Given the description of an element on the screen output the (x, y) to click on. 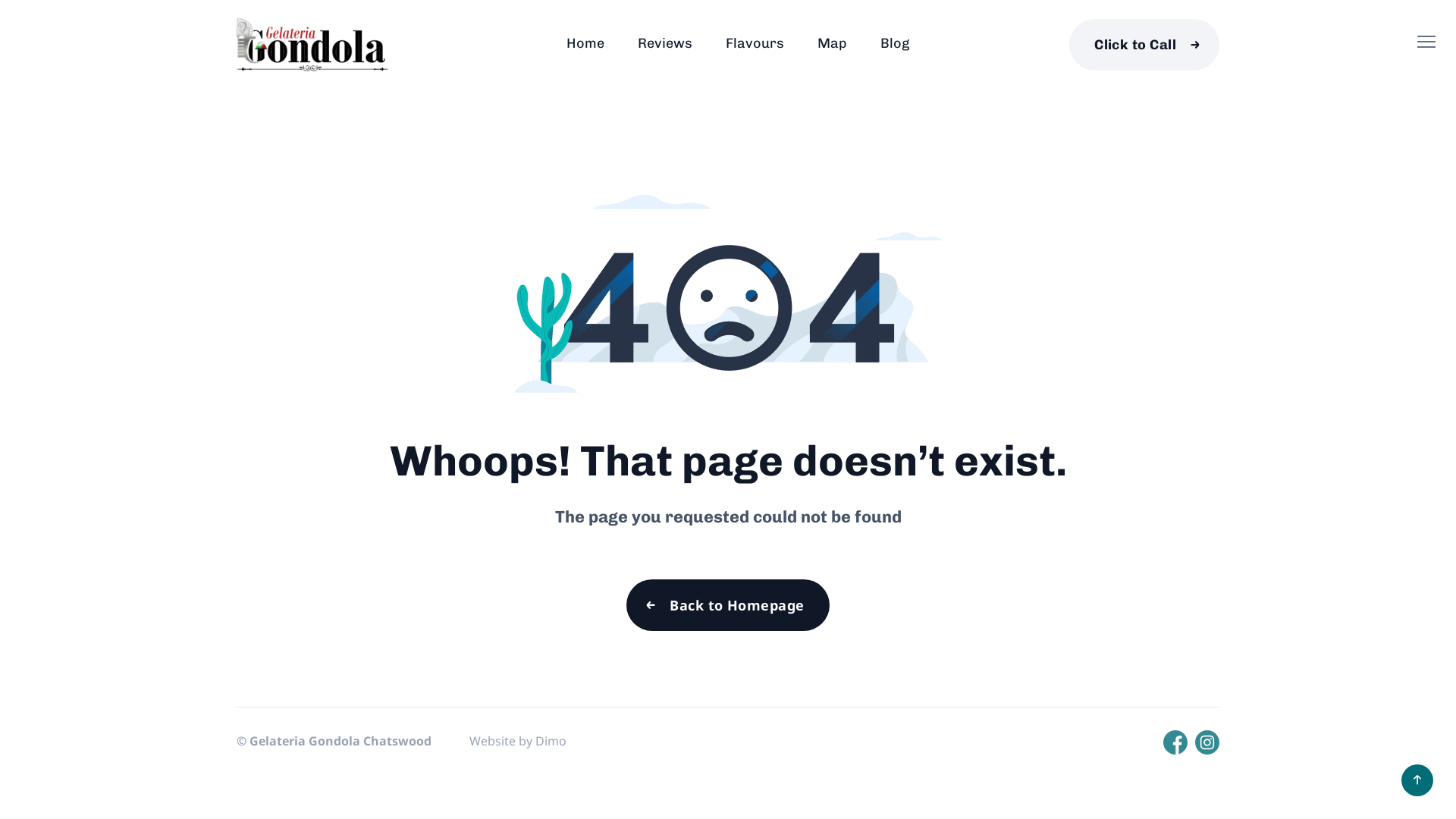
Blog Element type: text (893, 43)
Website by Dimo Element type: text (517, 740)
Map Element type: text (831, 43)
Flavours Element type: text (754, 43)
Back to Homepage Element type: text (727, 604)
Click to Call Element type: text (1144, 43)
Home Element type: text (584, 43)
Reviews Element type: text (664, 43)
